Given the description of an element on the screen output the (x, y) to click on. 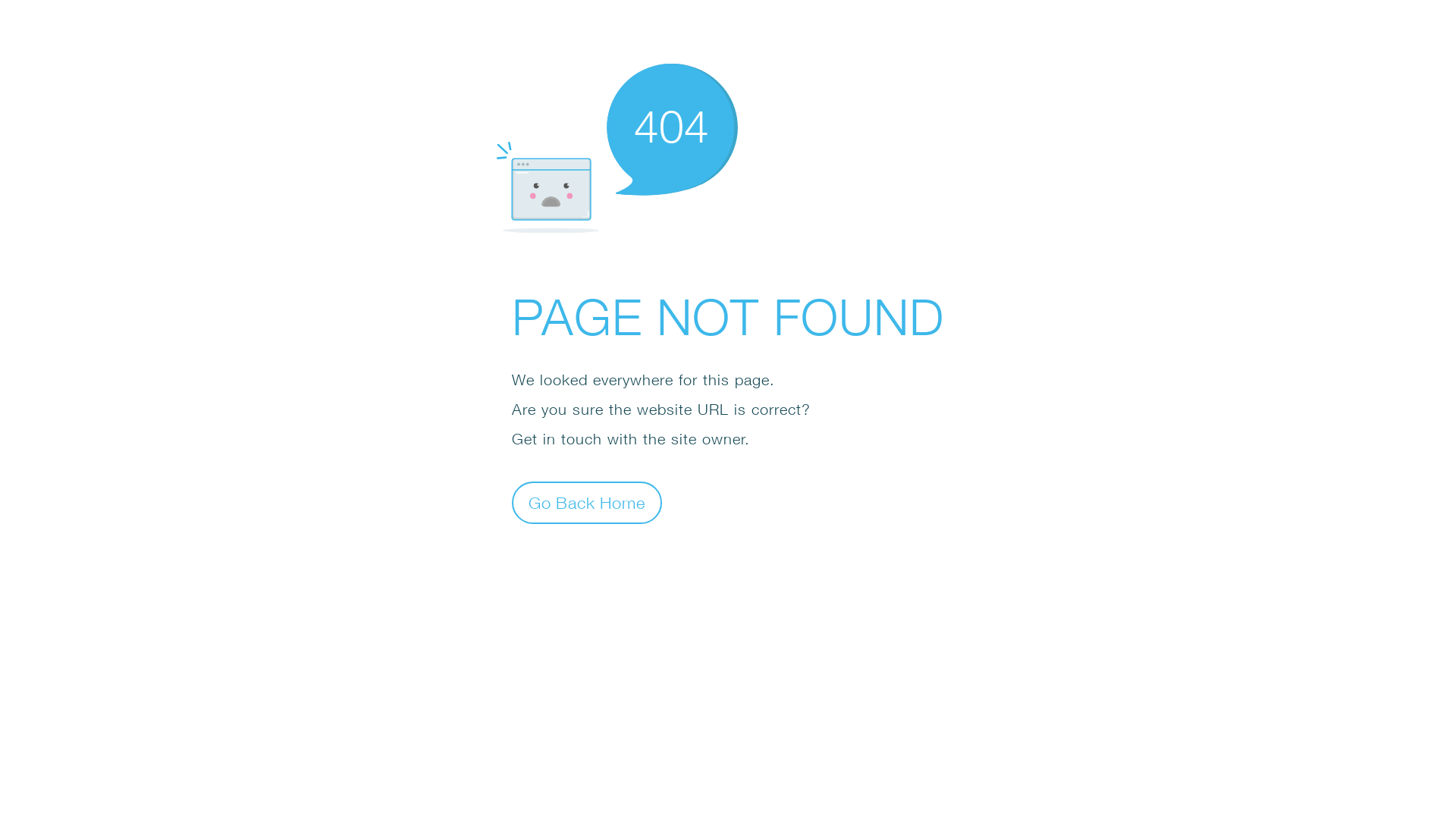
Go Back Home Element type: text (586, 502)
